Given the description of an element on the screen output the (x, y) to click on. 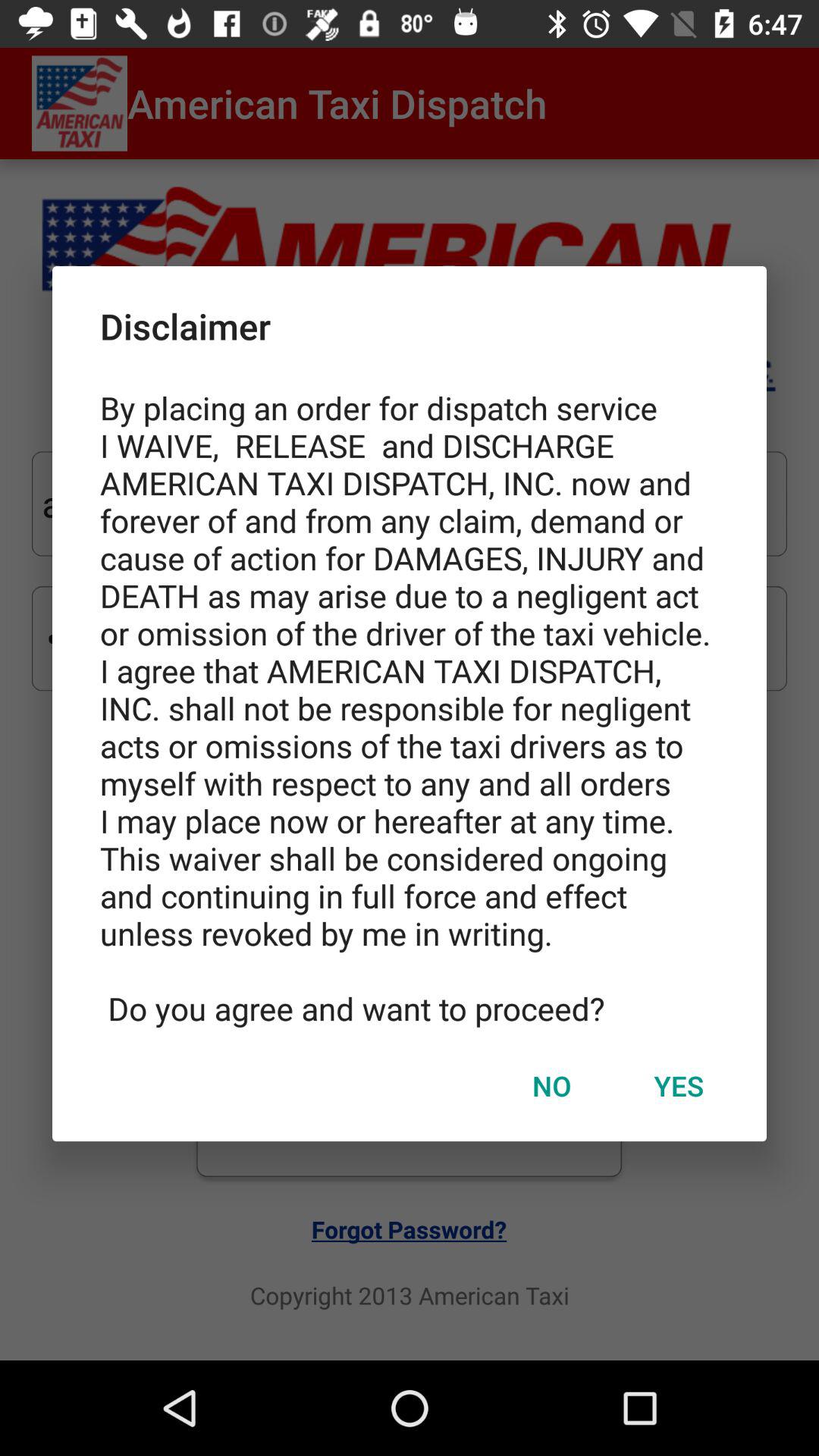
click yes icon (678, 1085)
